Given the description of an element on the screen output the (x, y) to click on. 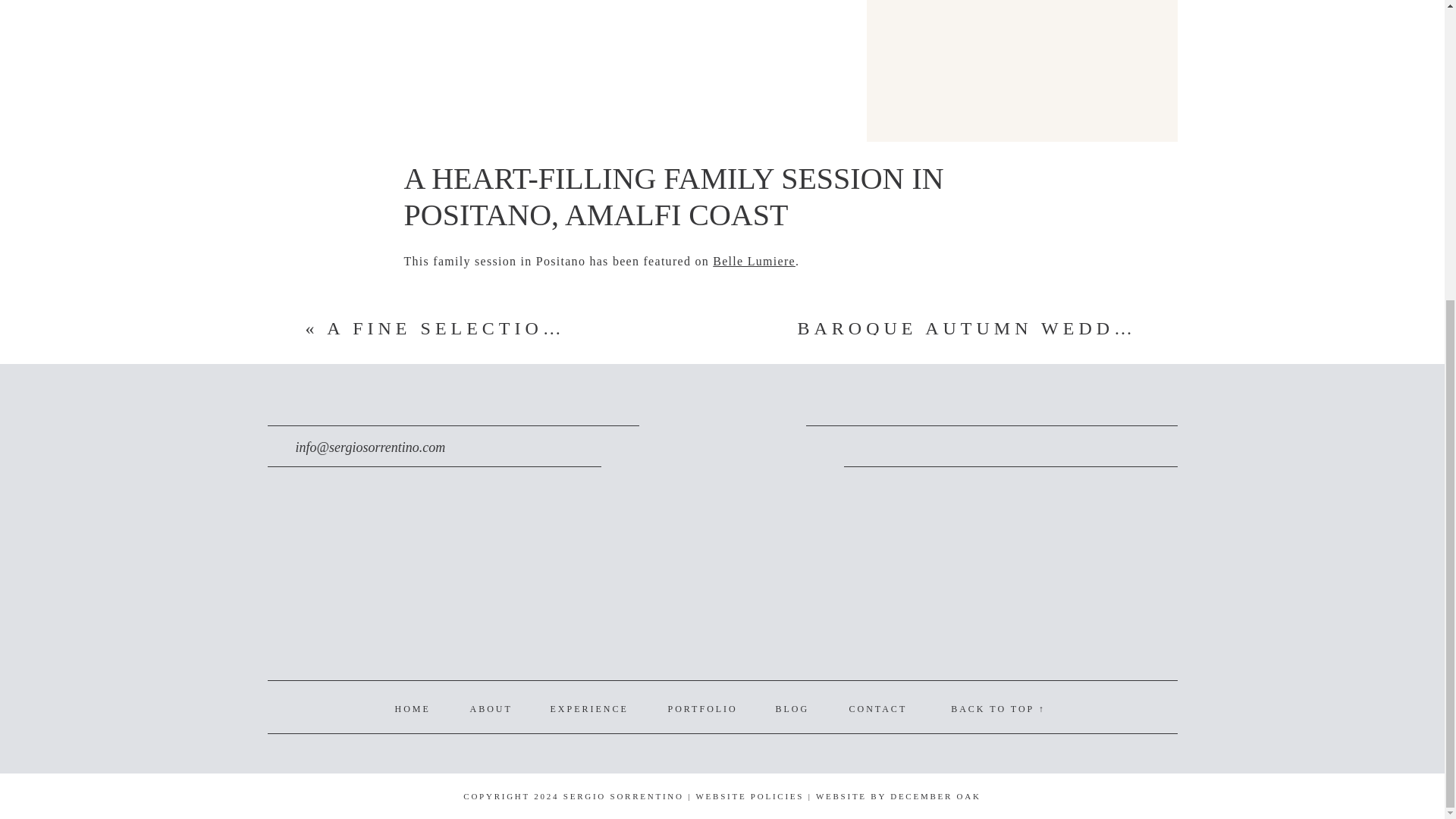
PORTFOLIO (700, 707)
Belle Lumiere (753, 260)
WEBSITE BY DECEMBER OAK (898, 795)
EXPERIENCE (588, 707)
ABOUT (490, 707)
BLOG (791, 707)
BAROQUE AUTUMN WEDDING TABLE SETTING (1081, 328)
HOME (411, 707)
WEBSITE POLICIES (749, 795)
